Given the description of an element on the screen output the (x, y) to click on. 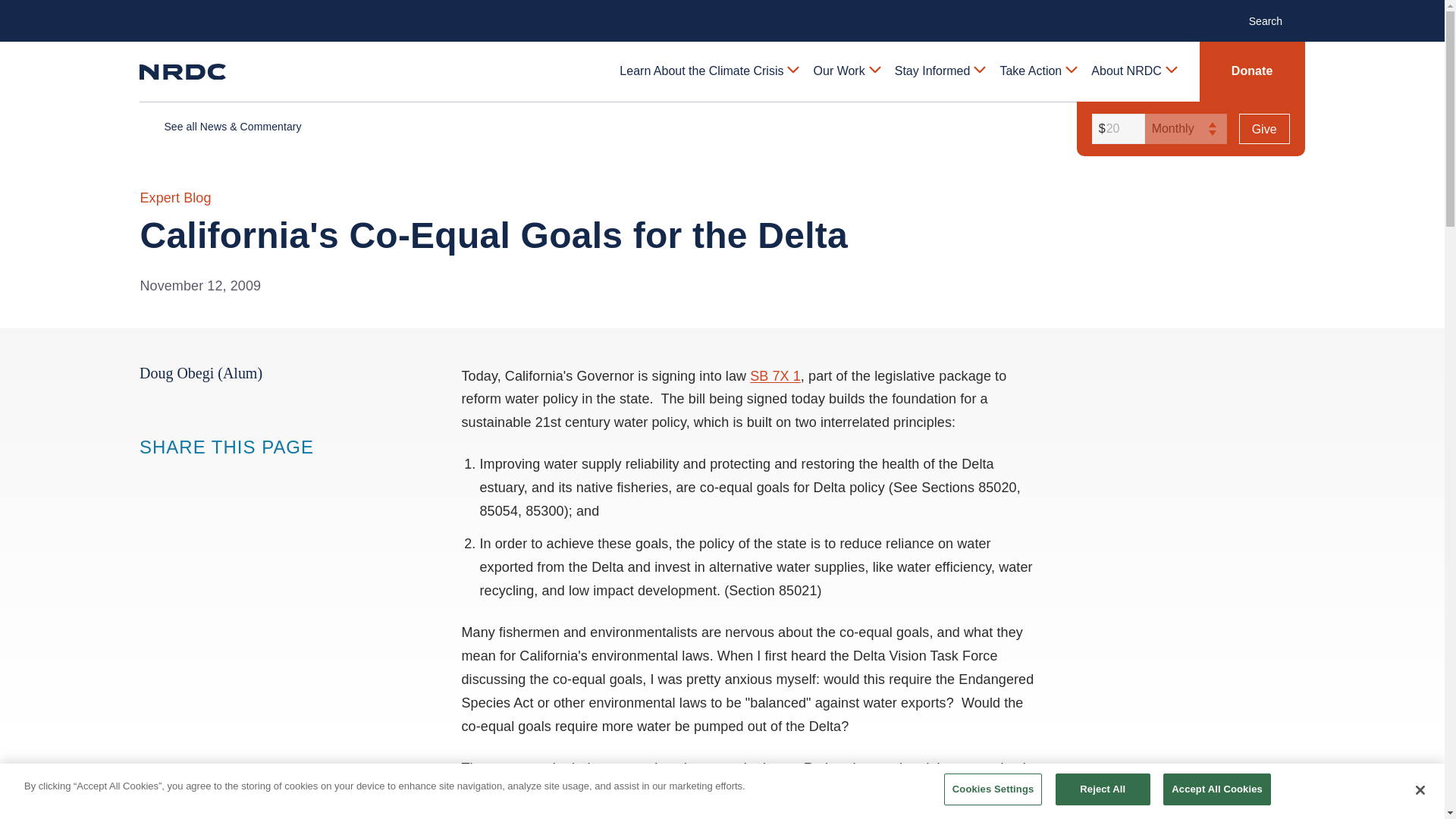
20 (1116, 128)
Share this page block (180, 475)
Share this page block (210, 475)
Stay Informed (939, 71)
Share this page block (149, 475)
Search (1273, 19)
Skip to main content (721, 12)
Our Work (846, 71)
Learn About the Climate Crisis (707, 71)
